Given the description of an element on the screen output the (x, y) to click on. 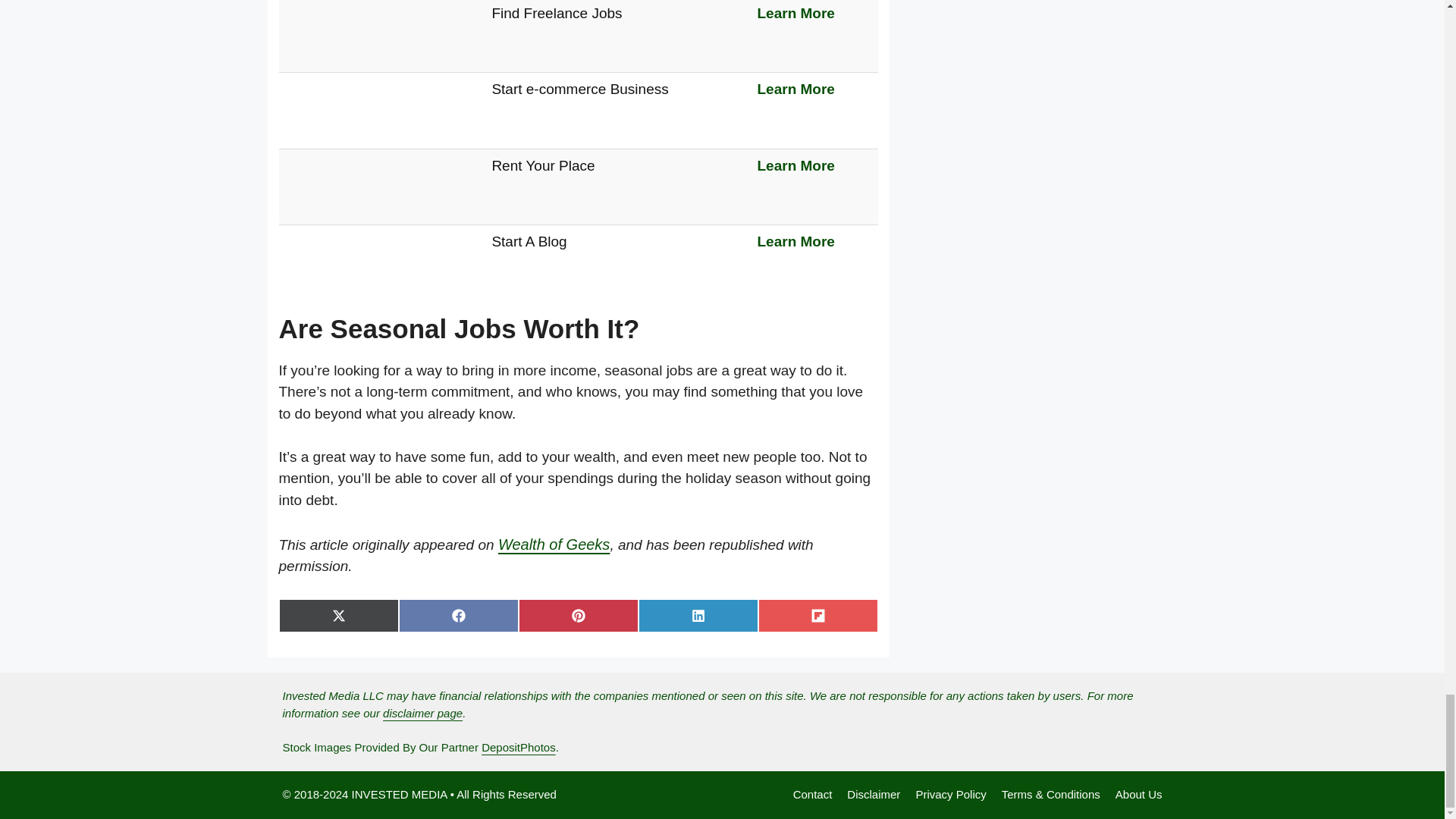
11 Best Seasonal Jobs To Apply For This Holiday Season (341, 283)
11 Best Seasonal Jobs To Apply For This Holiday Season (341, 207)
11 Best Seasonal Jobs To Apply For This Holiday Season (341, 54)
11 Best Seasonal Jobs To Apply For This Holiday Season (341, 130)
